Given the description of an element on the screen output the (x, y) to click on. 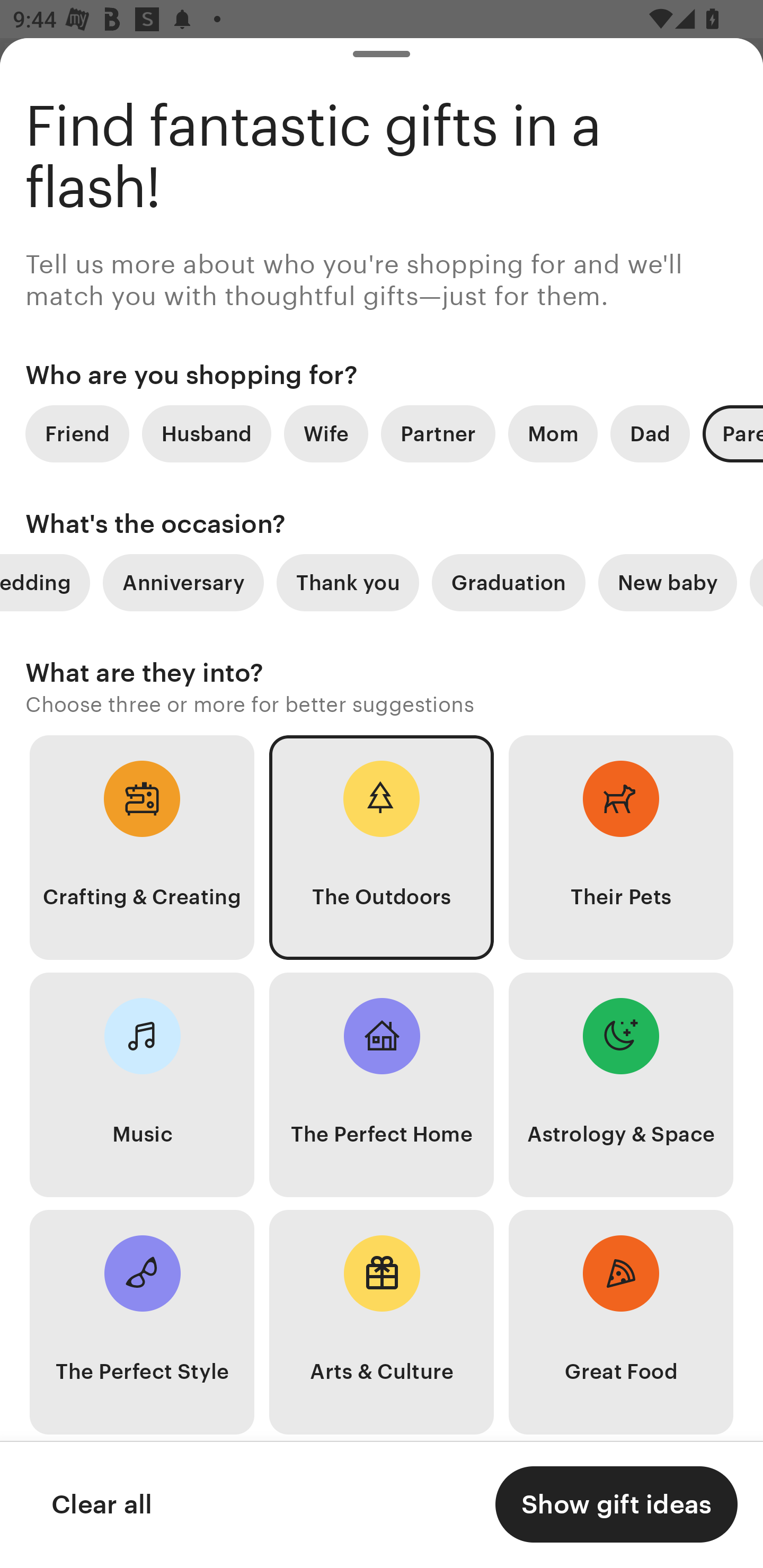
Friend (76, 433)
Husband (206, 433)
Wife (325, 433)
Partner (437, 433)
Mom (552, 433)
Dad (649, 433)
Anniversary (183, 582)
Thank you (347, 582)
Graduation (508, 582)
New baby (667, 582)
Crafting & Creating (141, 847)
The Outdoors (381, 847)
Their Pets (620, 847)
Music (141, 1084)
The Perfect Home (381, 1084)
Astrology & Space (620, 1084)
The Perfect Style (141, 1322)
Arts & Culture (381, 1322)
Great Food (620, 1322)
Clear all (101, 1504)
Show gift ideas (616, 1504)
